Given the description of an element on the screen output the (x, y) to click on. 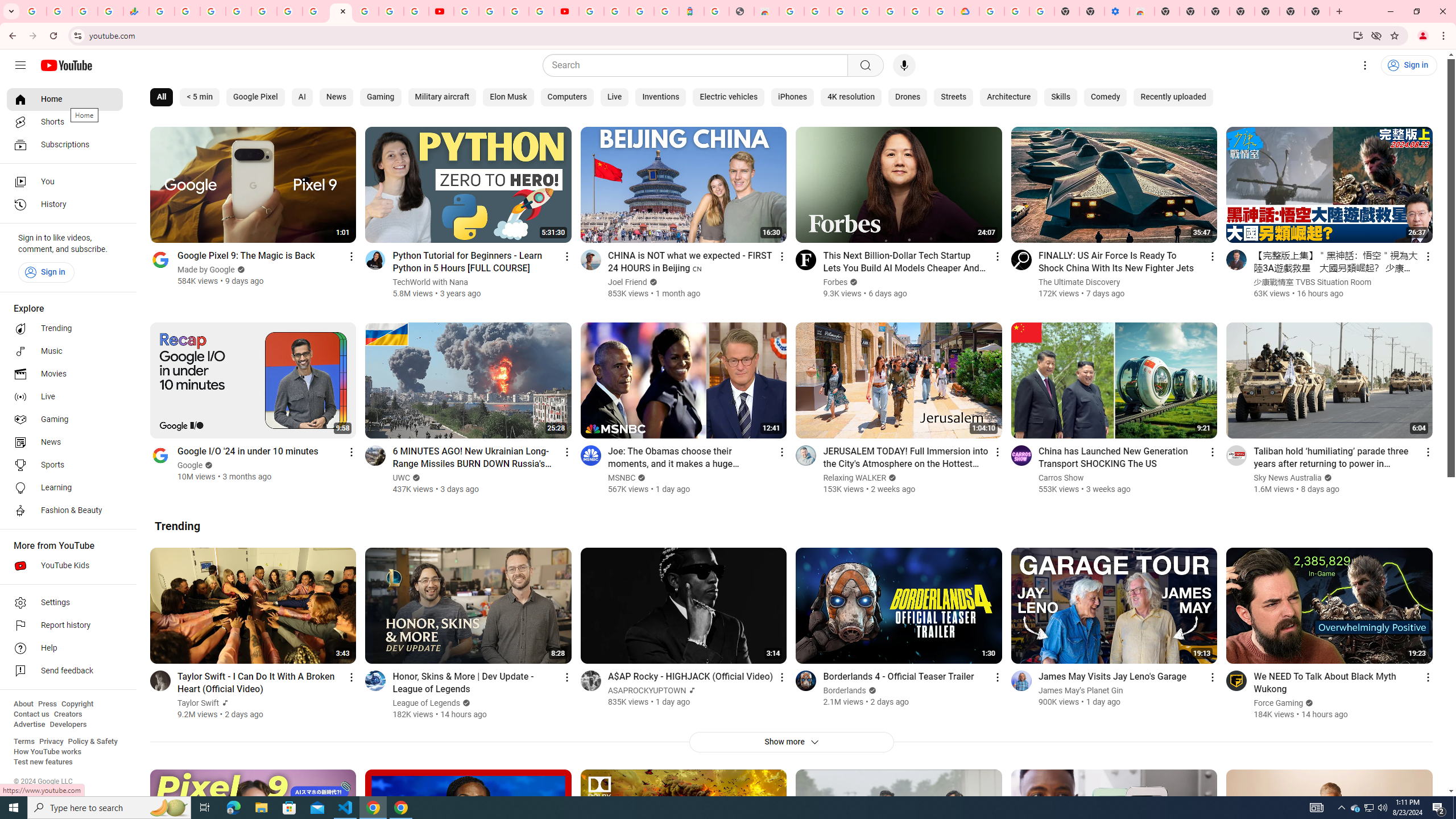
Creators (67, 714)
Joel Friend (627, 282)
Content Creator Programs & Opportunities - YouTube Creators (565, 11)
Settings (64, 602)
New Tab (1266, 11)
Fashion & Beauty (64, 510)
How YouTube works (47, 751)
Turn cookies on or off - Computer - Google Account Help (1042, 11)
News (64, 441)
Drones (907, 97)
